Given the description of an element on the screen output the (x, y) to click on. 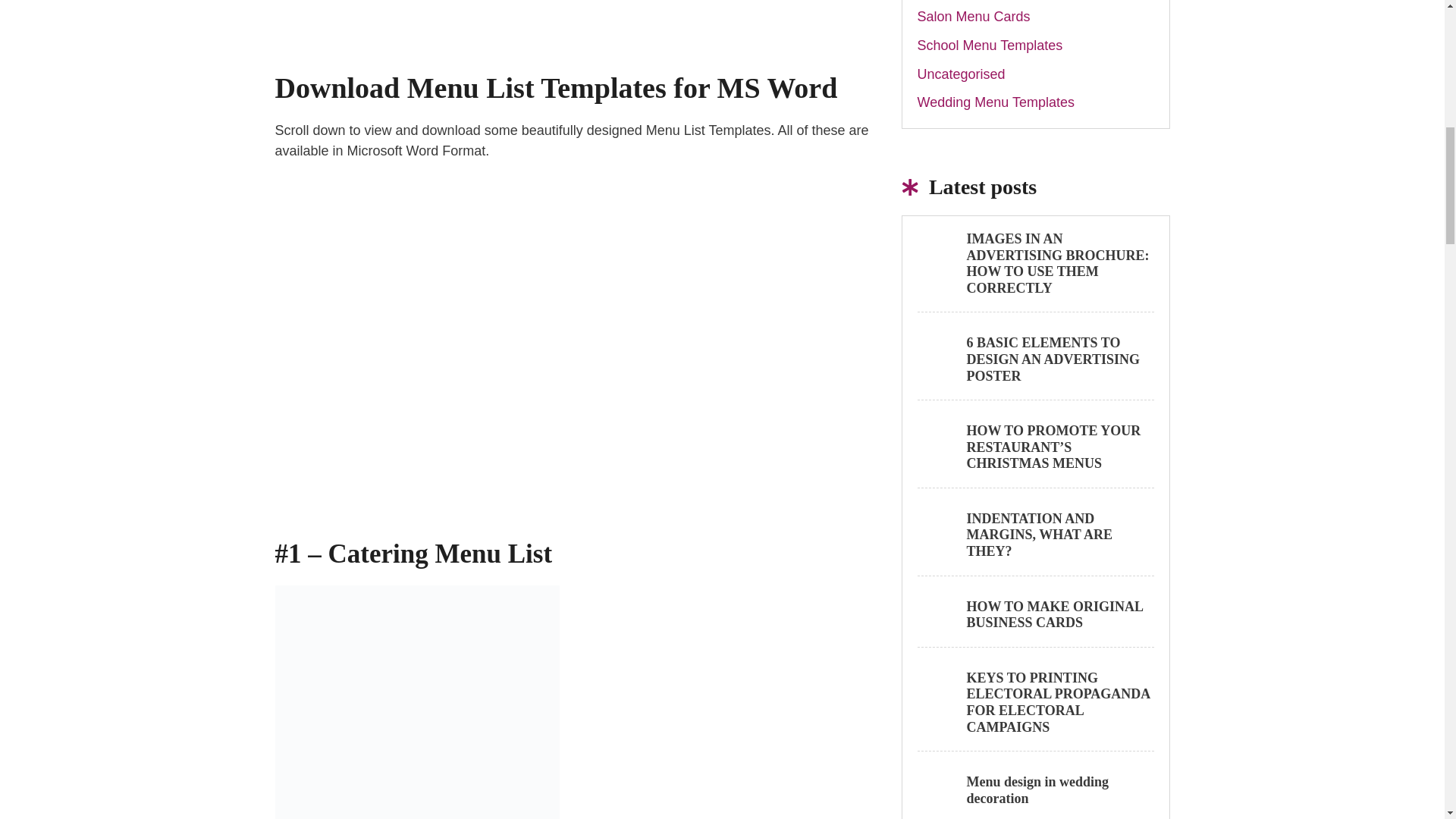
School Menu Templates (989, 45)
Wedding Menu Templates (995, 102)
IMAGES IN AN ADVERTISING BROCHURE: HOW TO USE THEM CORRECTLY (1057, 262)
Salon Menu Cards (973, 16)
Uncategorised (961, 73)
